Given the description of an element on the screen output the (x, y) to click on. 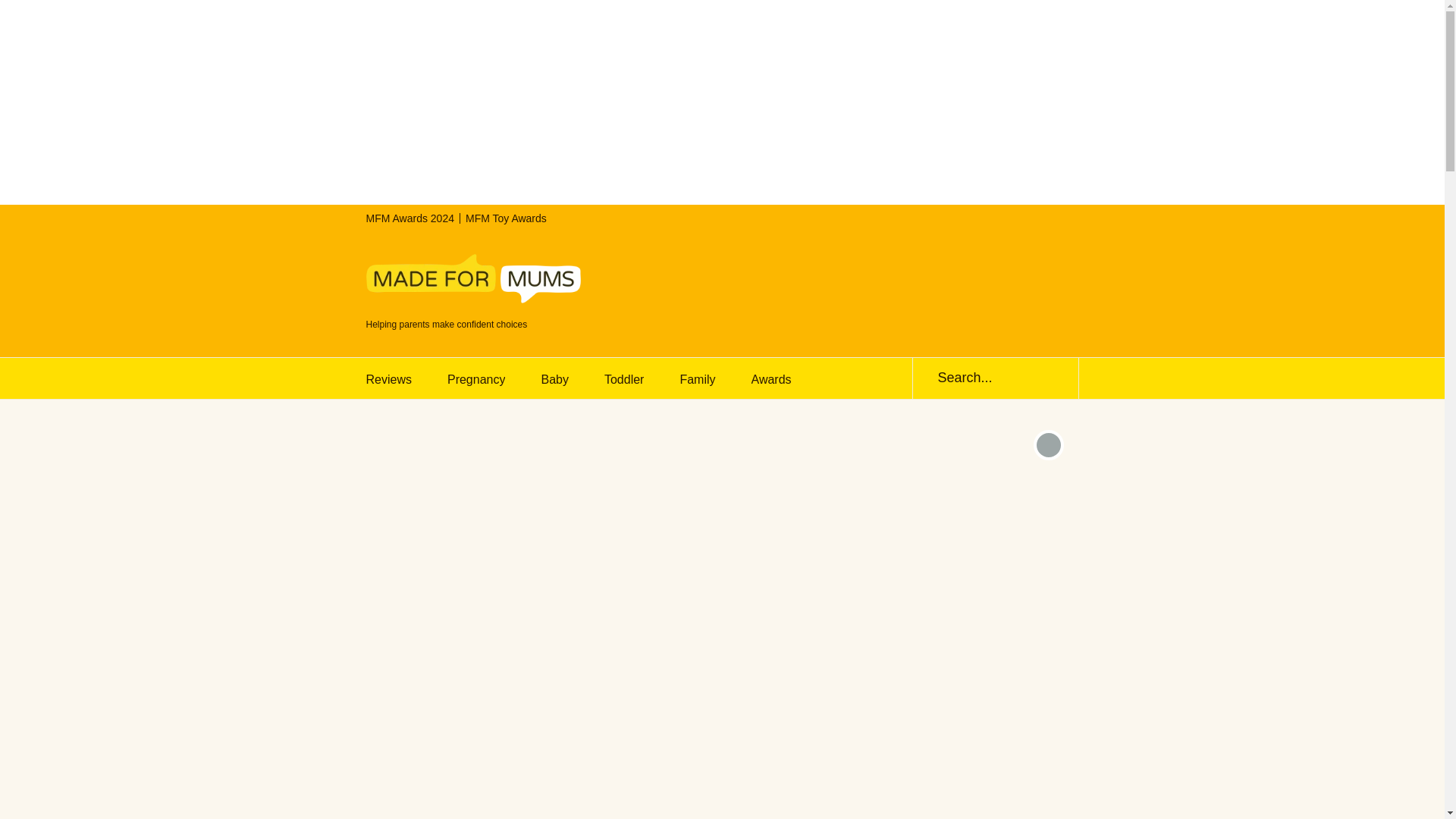
MFM Awards 2024 (408, 218)
MFM Awards 2024 (408, 218)
cropped-MFM-Logo-2x-f9d4146-3dfada4.png (472, 278)
Reviews (395, 377)
Pregnancy (482, 377)
MFM Toy Awards (506, 218)
MFM Toy Awards (506, 218)
Pregnancy (482, 377)
Reviews (395, 377)
